Given the description of an element on the screen output the (x, y) to click on. 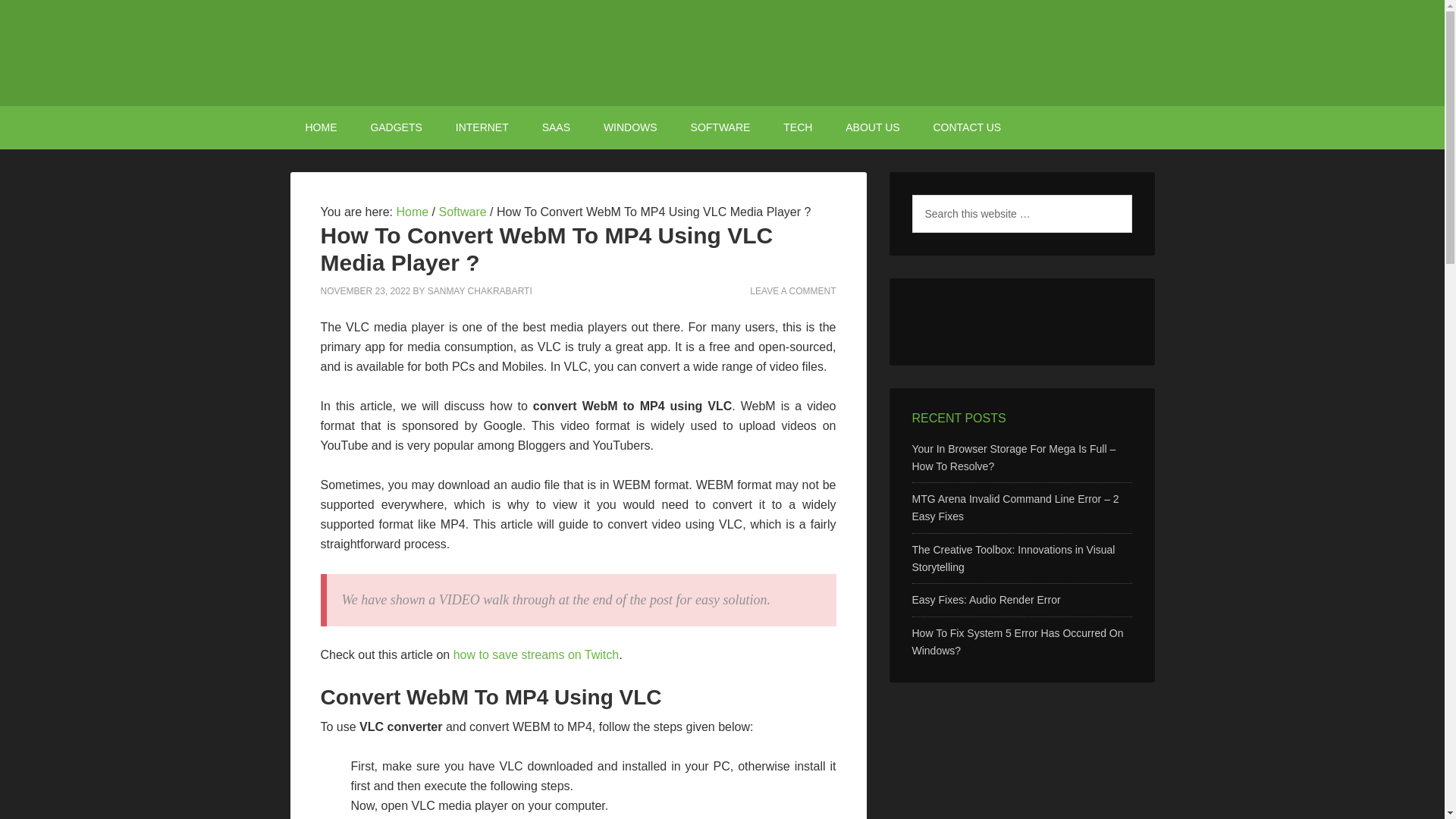
How To Fix System 5 Error Has Occurred On Windows? (1016, 641)
WINDOWS (630, 127)
SAAS (556, 127)
SANMAY CHAKRABARTI (480, 290)
LEAVE A COMMENT (792, 290)
DIGICRUNCHER (721, 52)
The Creative Toolbox: Innovations in Visual Storytelling (1013, 558)
how to save streams on Twitch (535, 654)
HOME (320, 127)
ABOUT US (871, 127)
Home (412, 211)
INTERNET (482, 127)
Software (462, 211)
TECH (797, 127)
